Given the description of an element on the screen output the (x, y) to click on. 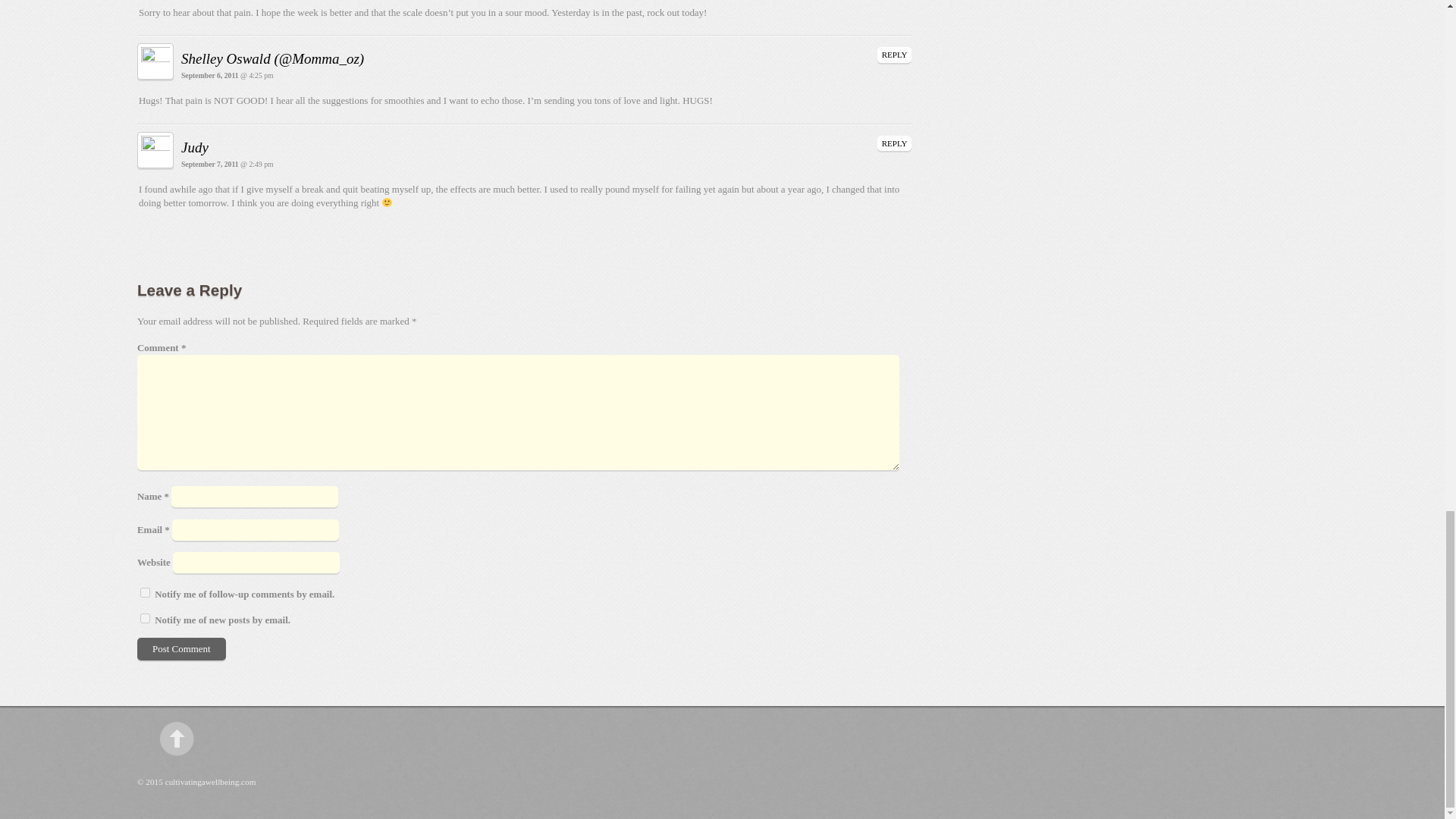
REPLY (894, 142)
Post Comment (180, 649)
subscribe (144, 592)
Judy (194, 147)
Post Comment (180, 649)
subscribe (144, 618)
REPLY (894, 54)
